Given the description of an element on the screen output the (x, y) to click on. 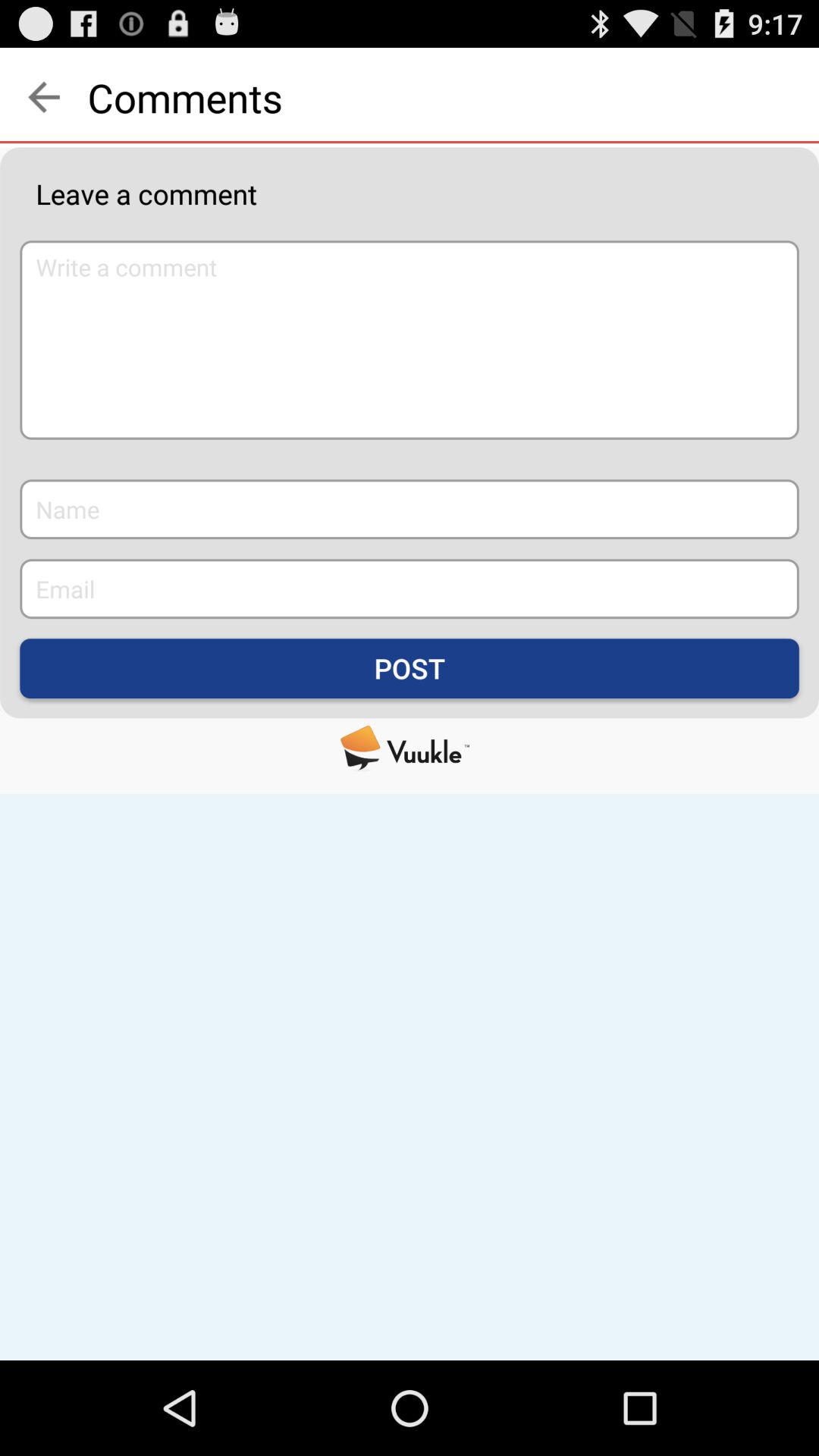
leave comment (409, 339)
